Given the description of an element on the screen output the (x, y) to click on. 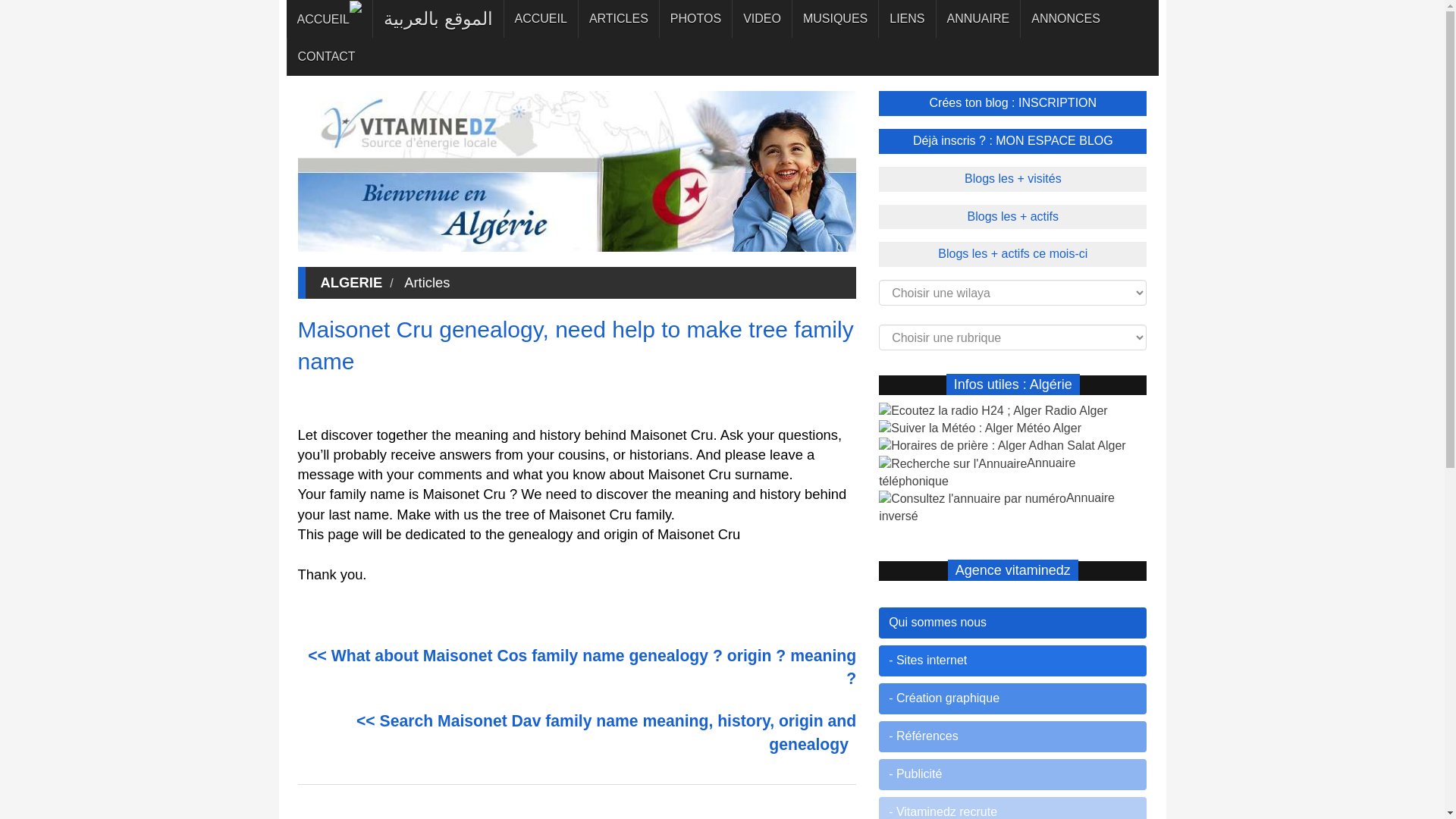
Adhan Salat Alger (1002, 445)
Articles (426, 282)
ANNUAIRE (978, 18)
ALGERIE (352, 282)
ACCUEIL (540, 18)
Radio Alger (993, 410)
- Vitaminedz recrute (1013, 807)
- Sites internet (1013, 660)
Accueil (329, 19)
Radio  Alger (993, 410)
MUSIQUES (834, 18)
ARTICLES (618, 18)
Qui sommes nous (1013, 622)
